Given the description of an element on the screen output the (x, y) to click on. 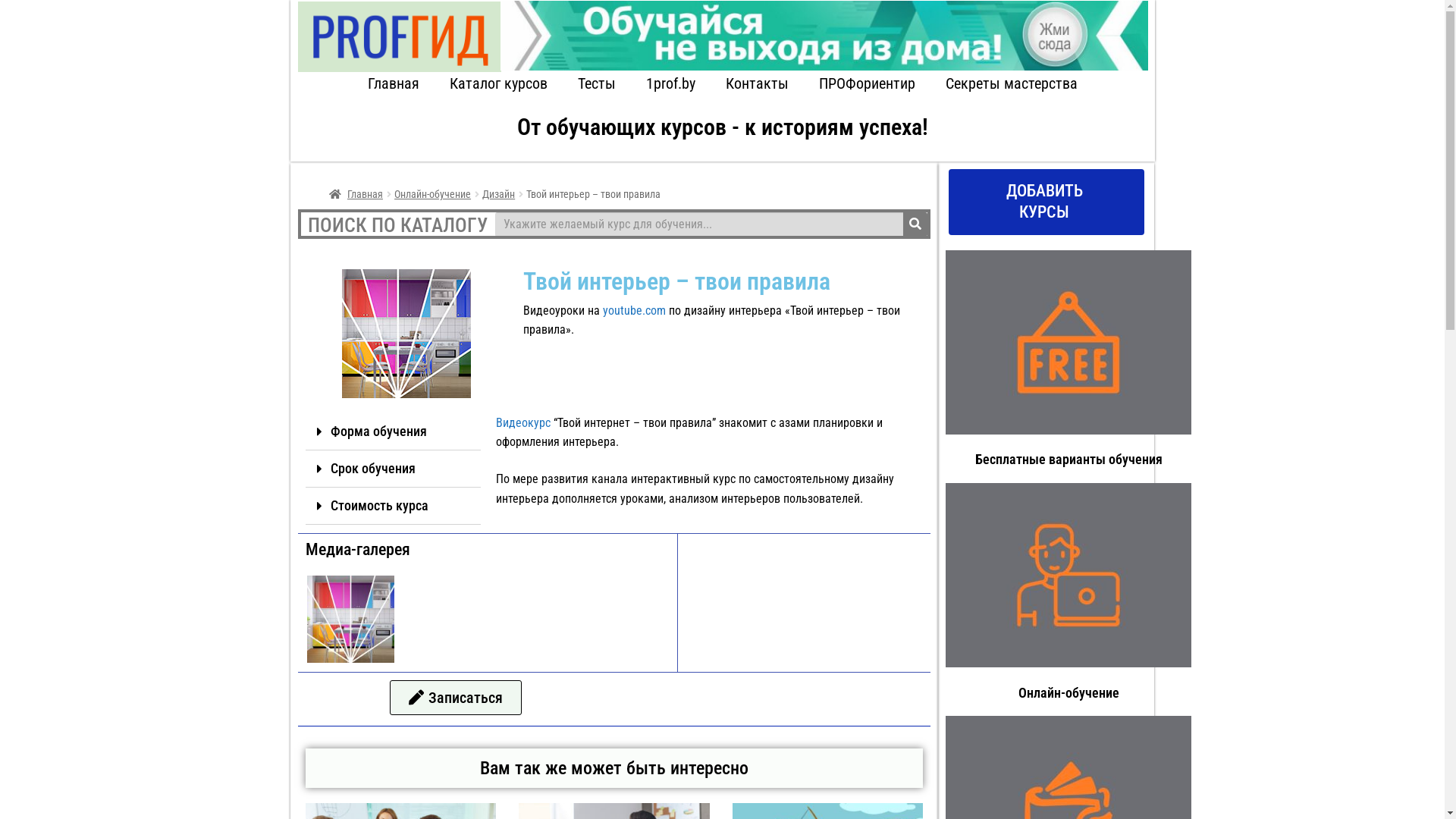
Dizajner Intererov Element type: hover (350, 618)
Search Element type: hover (699, 224)
youtube.com Element type: text (633, 310)
Search Element type: hover (915, 224)
1prof.by Element type: text (670, 82)
